Given the description of an element on the screen output the (x, y) to click on. 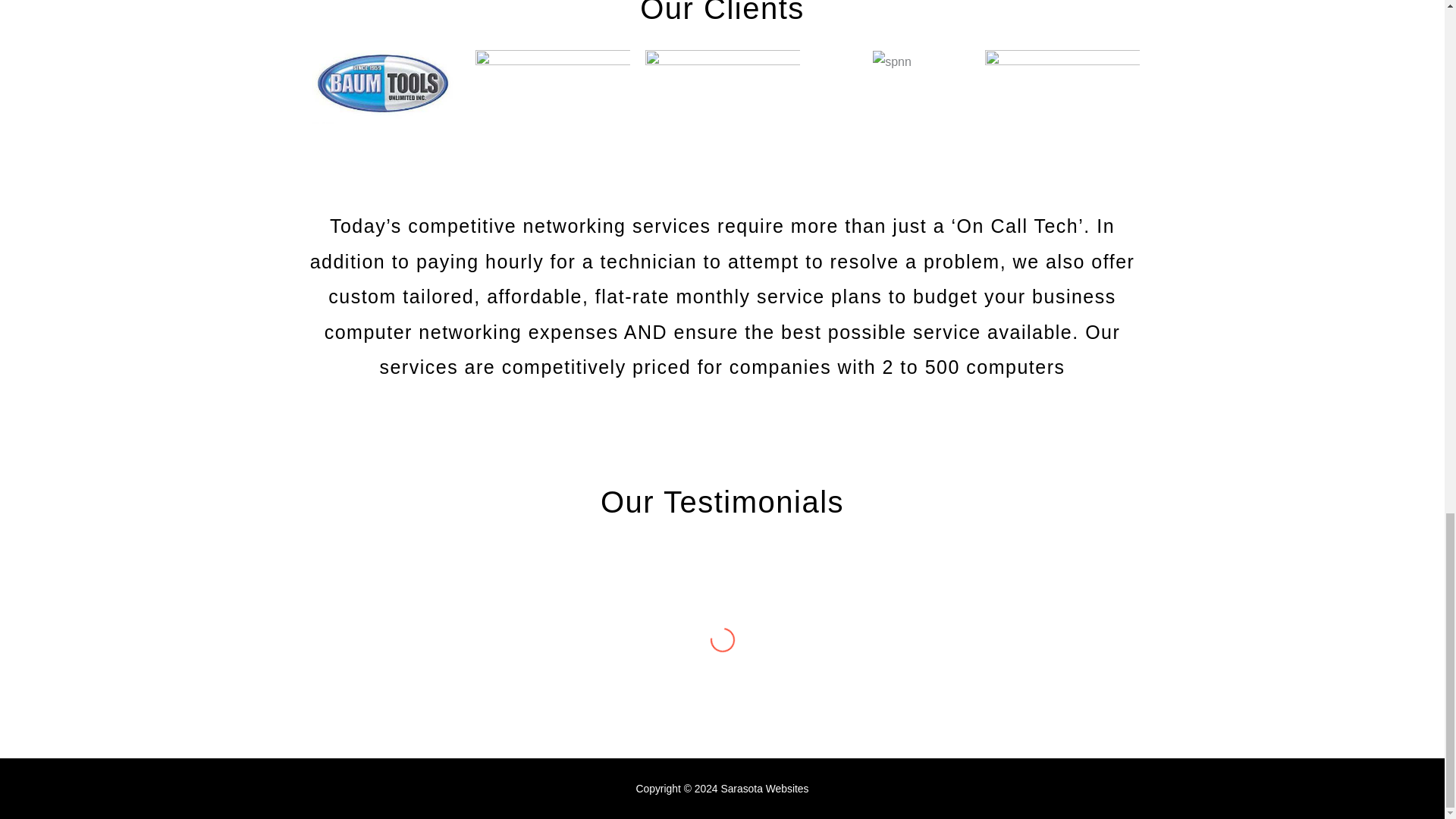
spnn (891, 61)
